Given the description of an element on the screen output the (x, y) to click on. 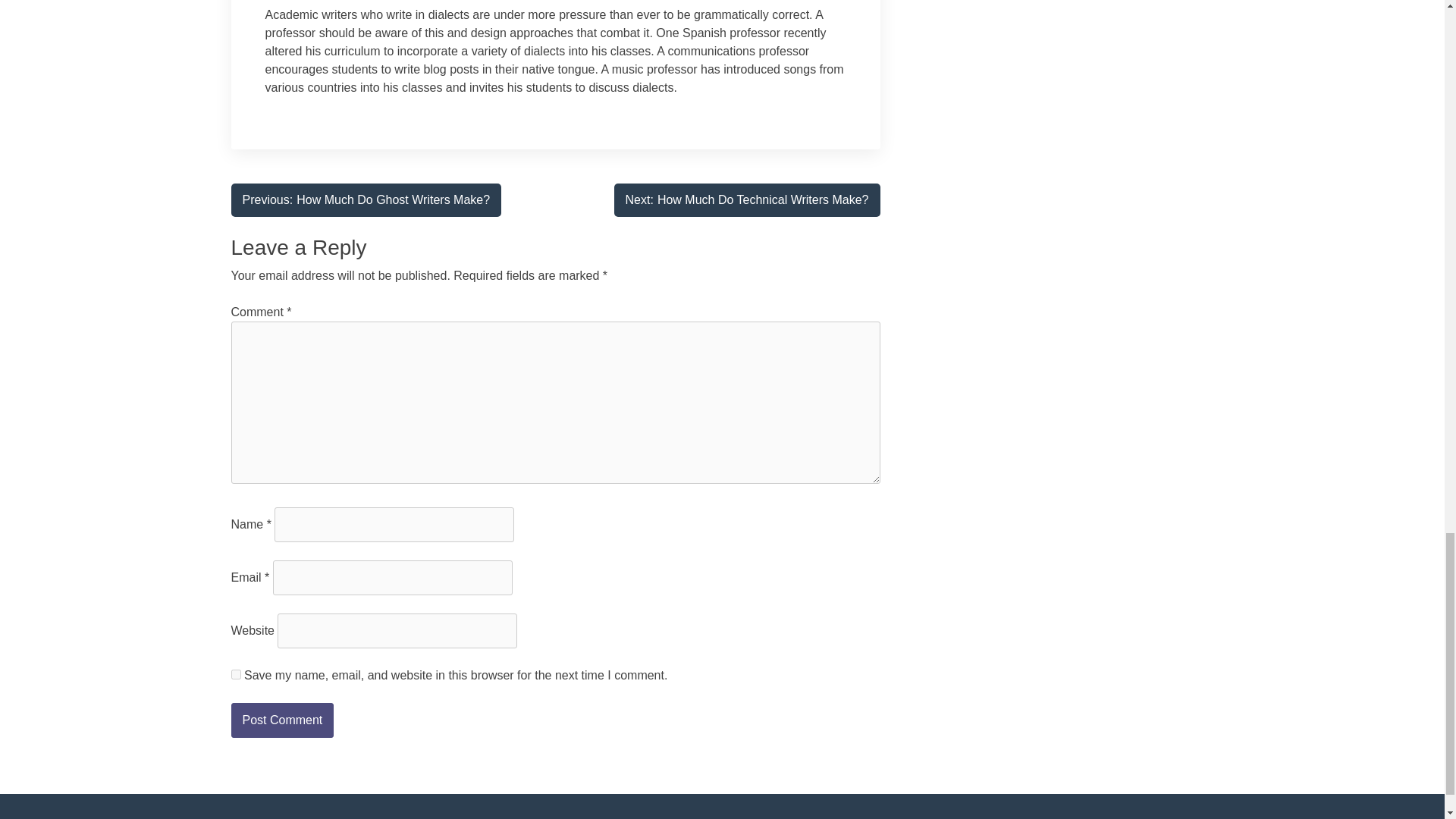
Post Comment (281, 719)
Post Comment (747, 200)
yes (365, 200)
